Given the description of an element on the screen output the (x, y) to click on. 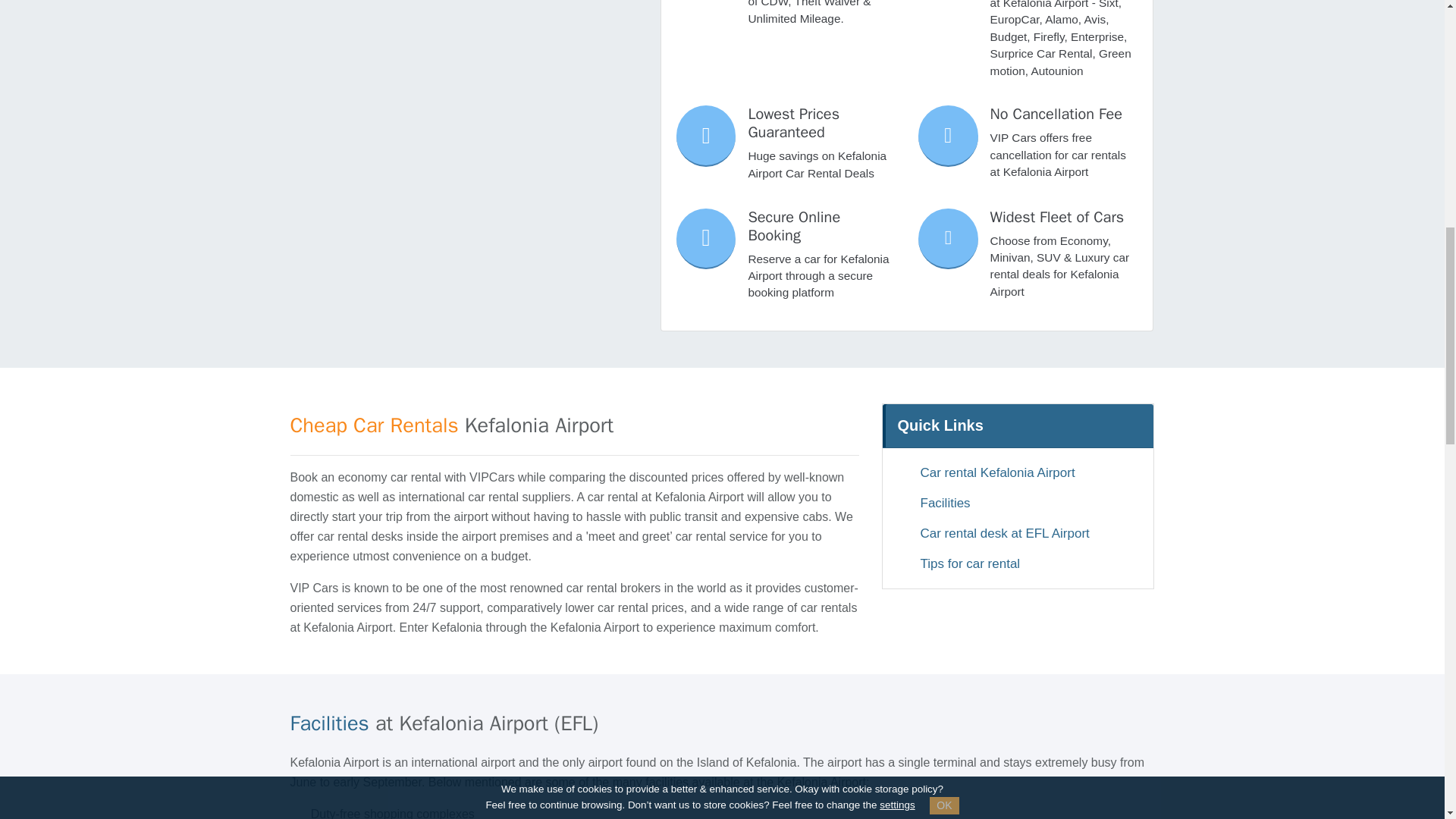
Tips for car rental (1018, 563)
Car rental desk at EFL Airport (1018, 533)
Car rental Kefalonia Airport (1018, 472)
Facilities (1018, 502)
